Given the description of an element on the screen output the (x, y) to click on. 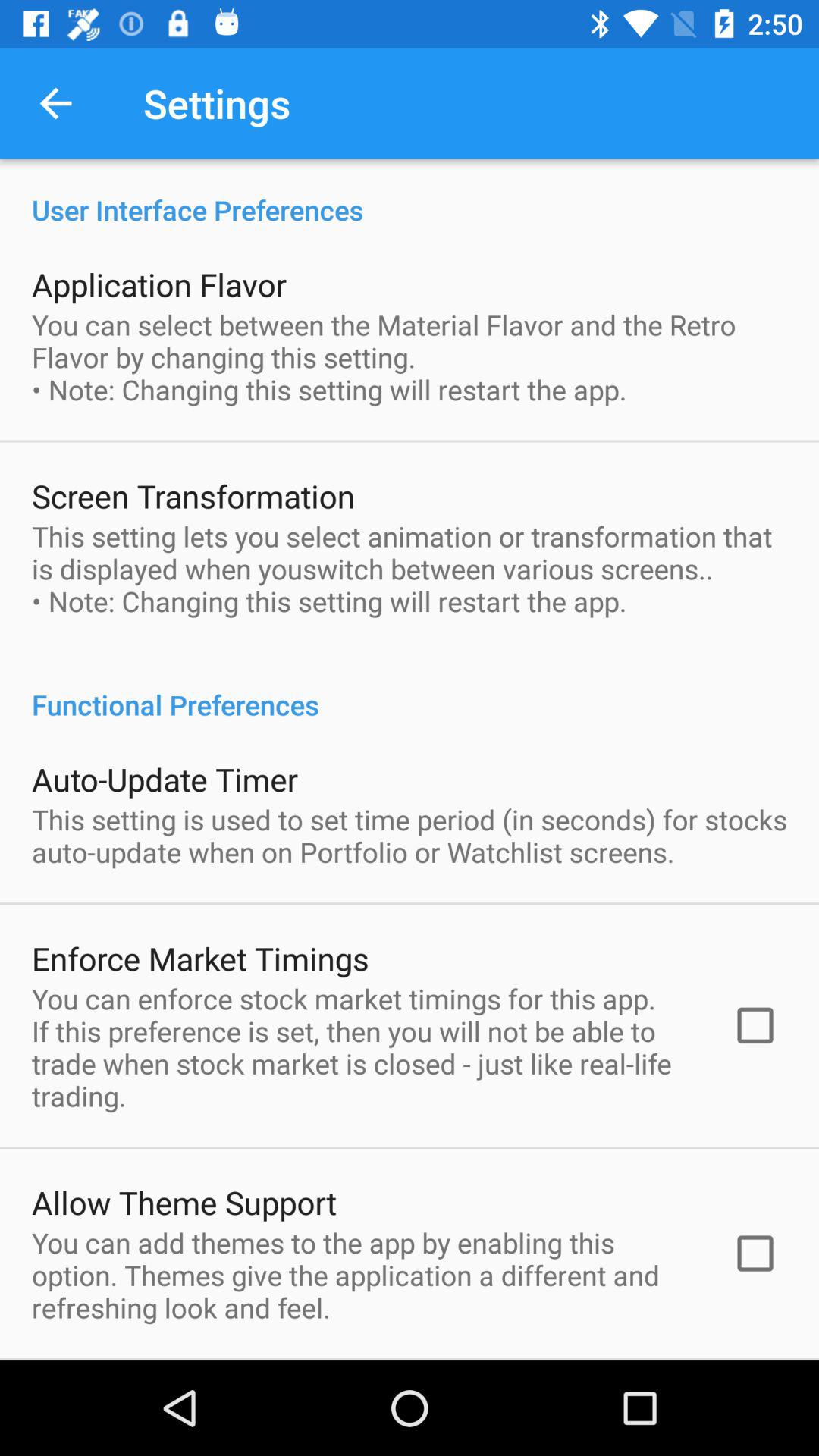
press the item below the user interface preferences (158, 283)
